Given the description of an element on the screen output the (x, y) to click on. 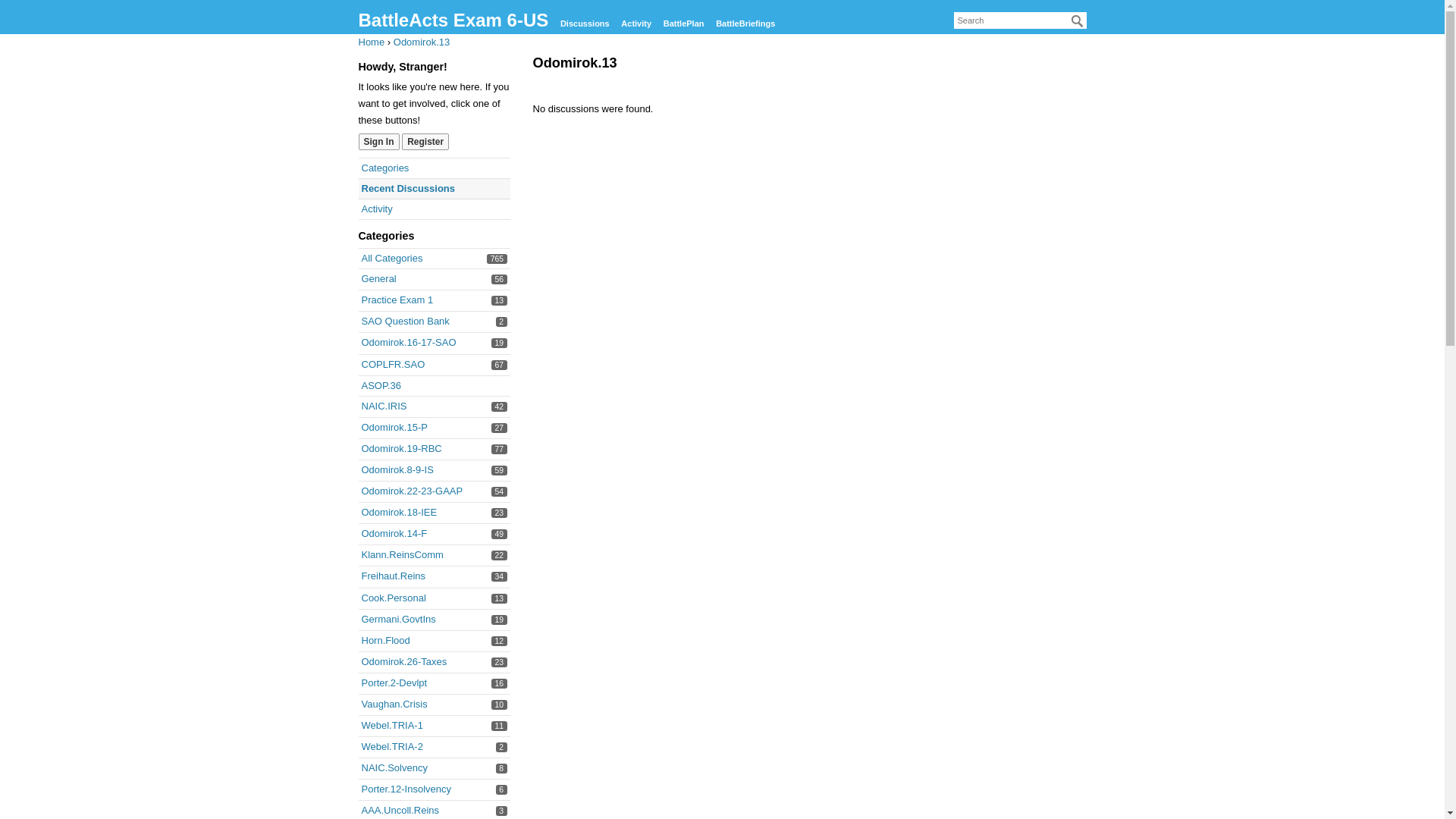
11
Webel.TRIA-1 Element type: text (391, 725)
8
NAIC.Solvency Element type: text (393, 767)
13
Practice Exam 1 Element type: text (396, 299)
2
SAO Question Bank Element type: text (404, 320)
ASOP.36 Element type: text (380, 385)
Recent Discussions Element type: text (407, 188)
Register Element type: text (424, 141)
27
Odomirok.15-P Element type: text (393, 427)
Home Element type: text (370, 41)
49
Odomirok.14-F Element type: text (393, 533)
67
COPLFR.SAO Element type: text (392, 363)
BattleBriefings Element type: text (745, 23)
19
Germani.GovtIns Element type: text (397, 618)
19
Odomirok.16-17-SAO Element type: text (407, 342)
Odomirok.13 Element type: text (421, 41)
3
AAA.Uncoll.Reins Element type: text (399, 809)
Activity Element type: text (635, 23)
765
All Categories Element type: text (391, 257)
59
Odomirok.8-9-IS Element type: text (396, 469)
BattlePlan Element type: text (683, 23)
6
Porter.12-Insolvency Element type: text (405, 788)
Discussions Element type: text (584, 23)
12
Horn.Flood Element type: text (384, 640)
23
Odomirok.26-Taxes Element type: text (403, 661)
34
Freihaut.Reins Element type: text (392, 575)
22
Klann.ReinsComm Element type: text (401, 554)
54
Odomirok.22-23-GAAP Element type: text (411, 490)
Activity Element type: text (376, 208)
Sign In Element type: text (377, 141)
16
Porter.2-Devlpt Element type: text (393, 682)
Enter your search term. Element type: hover (1019, 20)
42
NAIC.IRIS Element type: text (383, 405)
56
General Element type: text (377, 278)
Go Element type: text (1076, 21)
77
Odomirok.19-RBC Element type: text (400, 448)
Categories Element type: text (384, 167)
10
Vaughan.Crisis Element type: text (393, 703)
BattleActs Exam 6-US Element type: text (452, 19)
13
Cook.Personal Element type: text (392, 597)
2
Webel.TRIA-2 Element type: text (391, 746)
23
Odomirok.18-IEE Element type: text (398, 511)
